Given the description of an element on the screen output the (x, y) to click on. 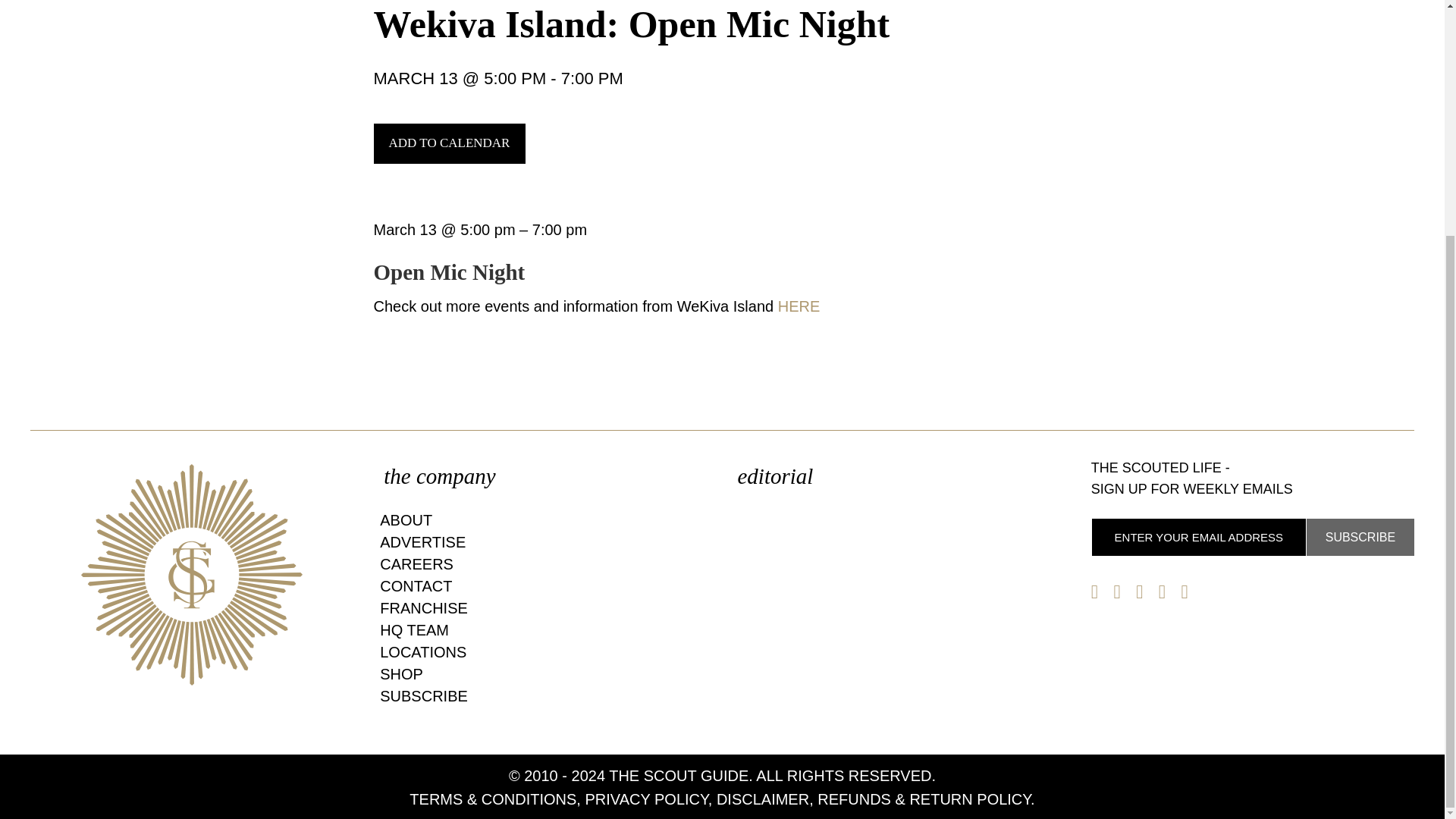
Open Mic Night (448, 272)
The Scout Guide Icon Logo (191, 574)
Subscribe (1359, 537)
